Given the description of an element on the screen output the (x, y) to click on. 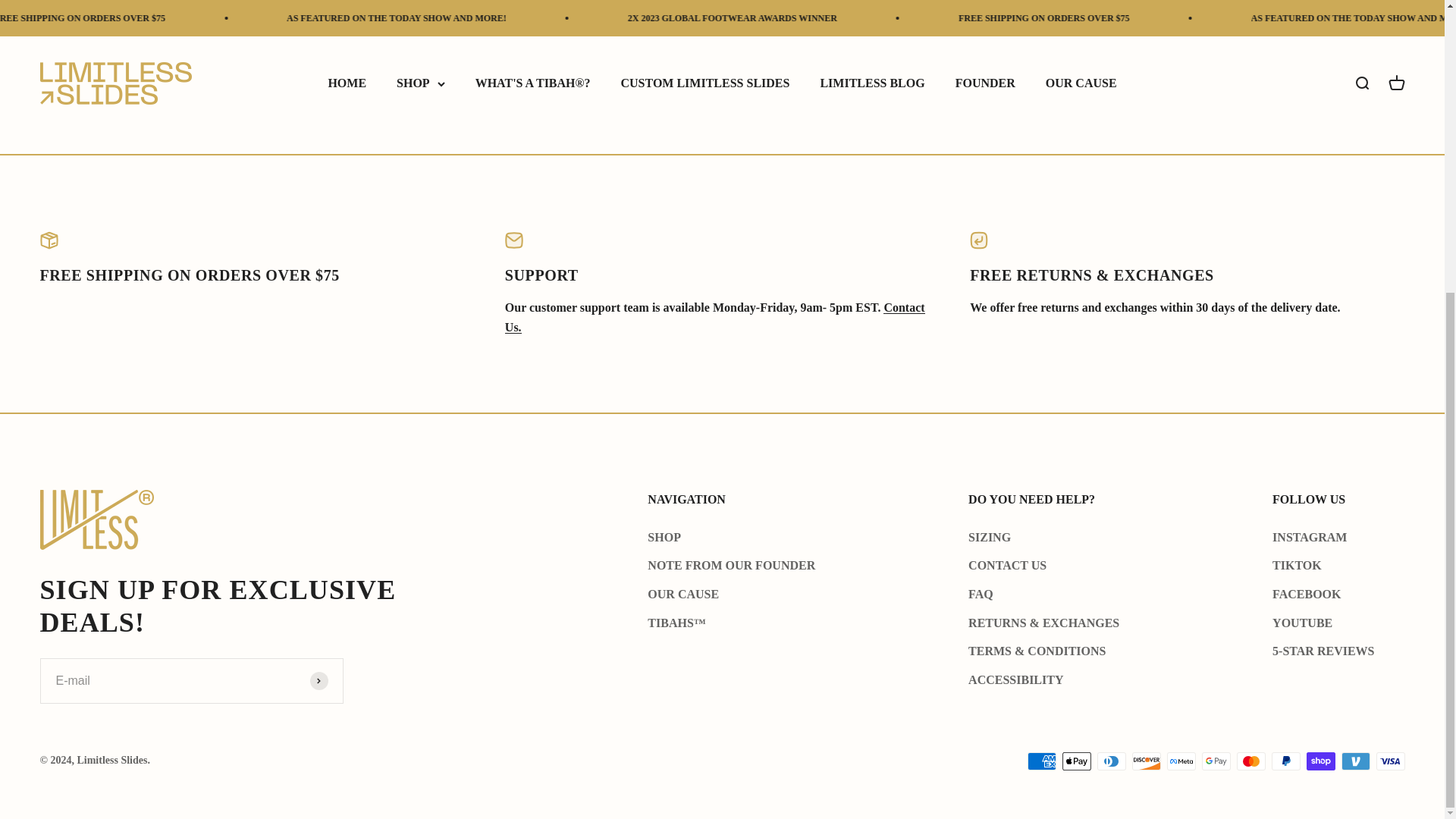
CONTACT US (714, 317)
